Given the description of an element on the screen output the (x, y) to click on. 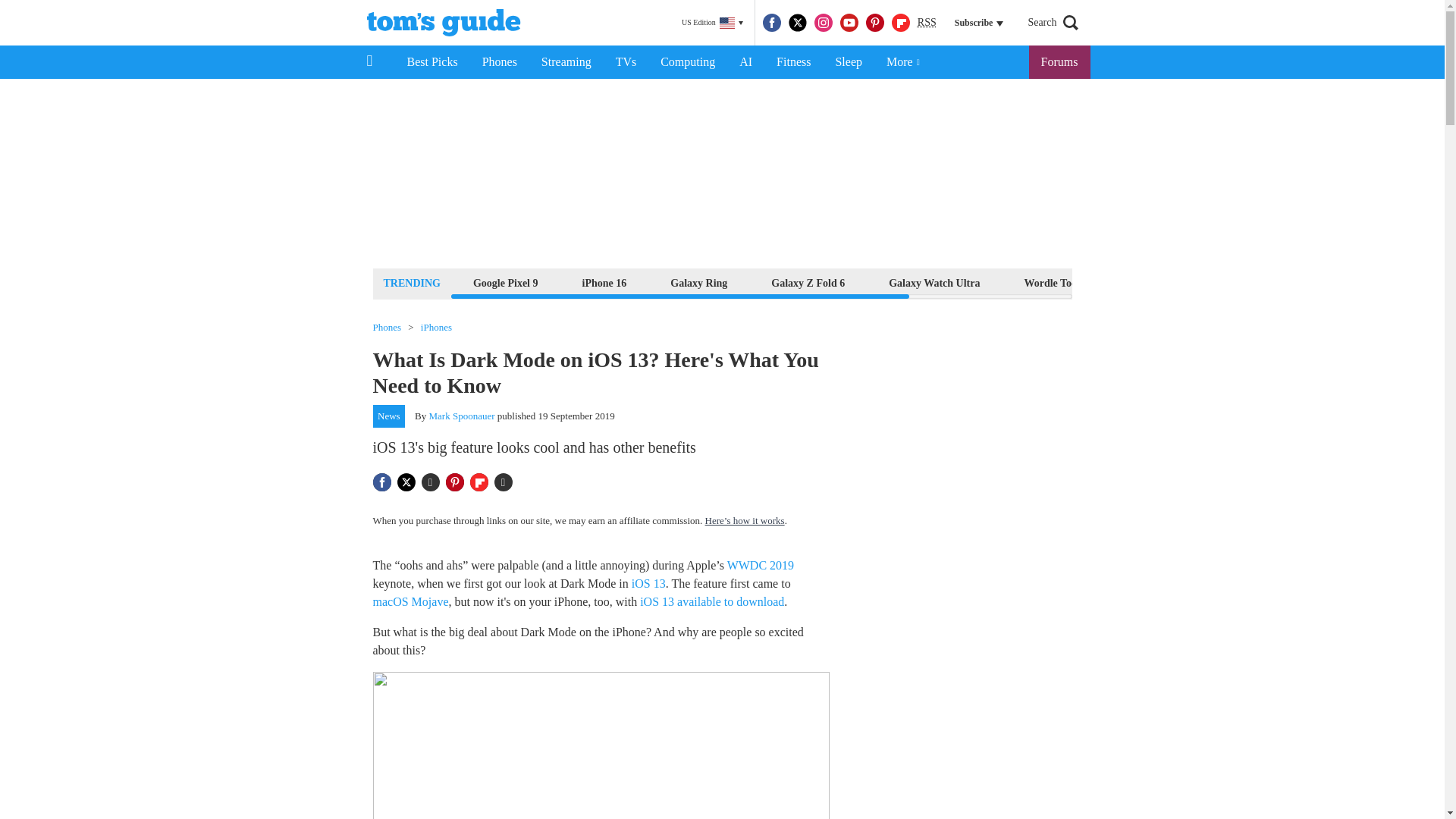
AI (745, 61)
Sleep (848, 61)
Fitness (793, 61)
Streaming (566, 61)
Really Simple Syndication (926, 21)
Best Picks (431, 61)
Phones (499, 61)
RSS (926, 22)
US Edition (712, 22)
Computing (686, 61)
TVs (626, 61)
